Given the description of an element on the screen output the (x, y) to click on. 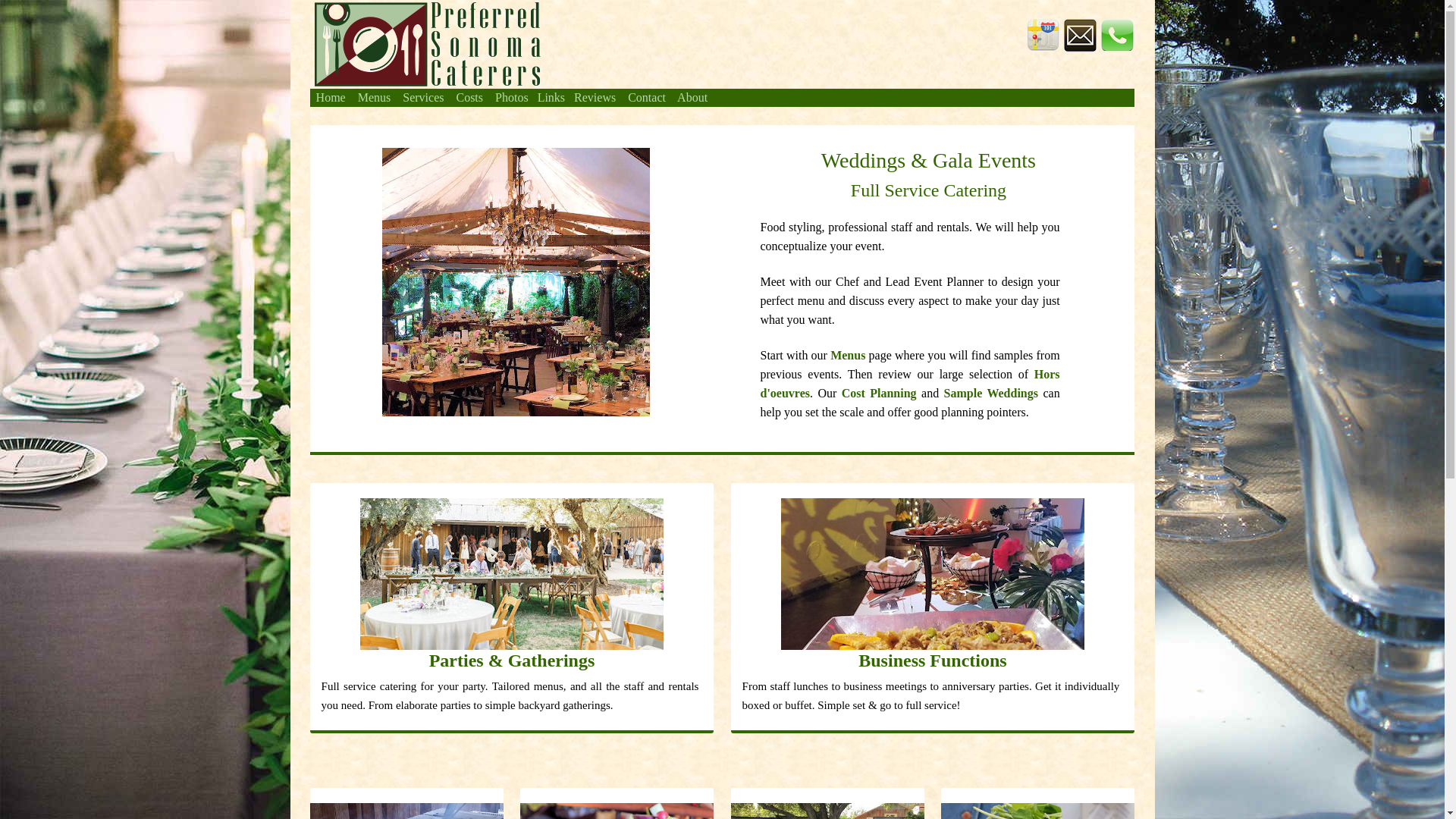
Email Us (1079, 35)
Photos (511, 97)
Preferred Sonoma Caterers Home (425, 42)
Costs (469, 97)
Services (423, 97)
Cost Planning (879, 392)
About (692, 97)
Menus (374, 97)
Find Us (1042, 35)
Menus (846, 354)
Reviews (594, 97)
Call US (1117, 35)
Hors d'oeuvres (909, 383)
Call Us (1117, 33)
Home (330, 97)
